Given the description of an element on the screen output the (x, y) to click on. 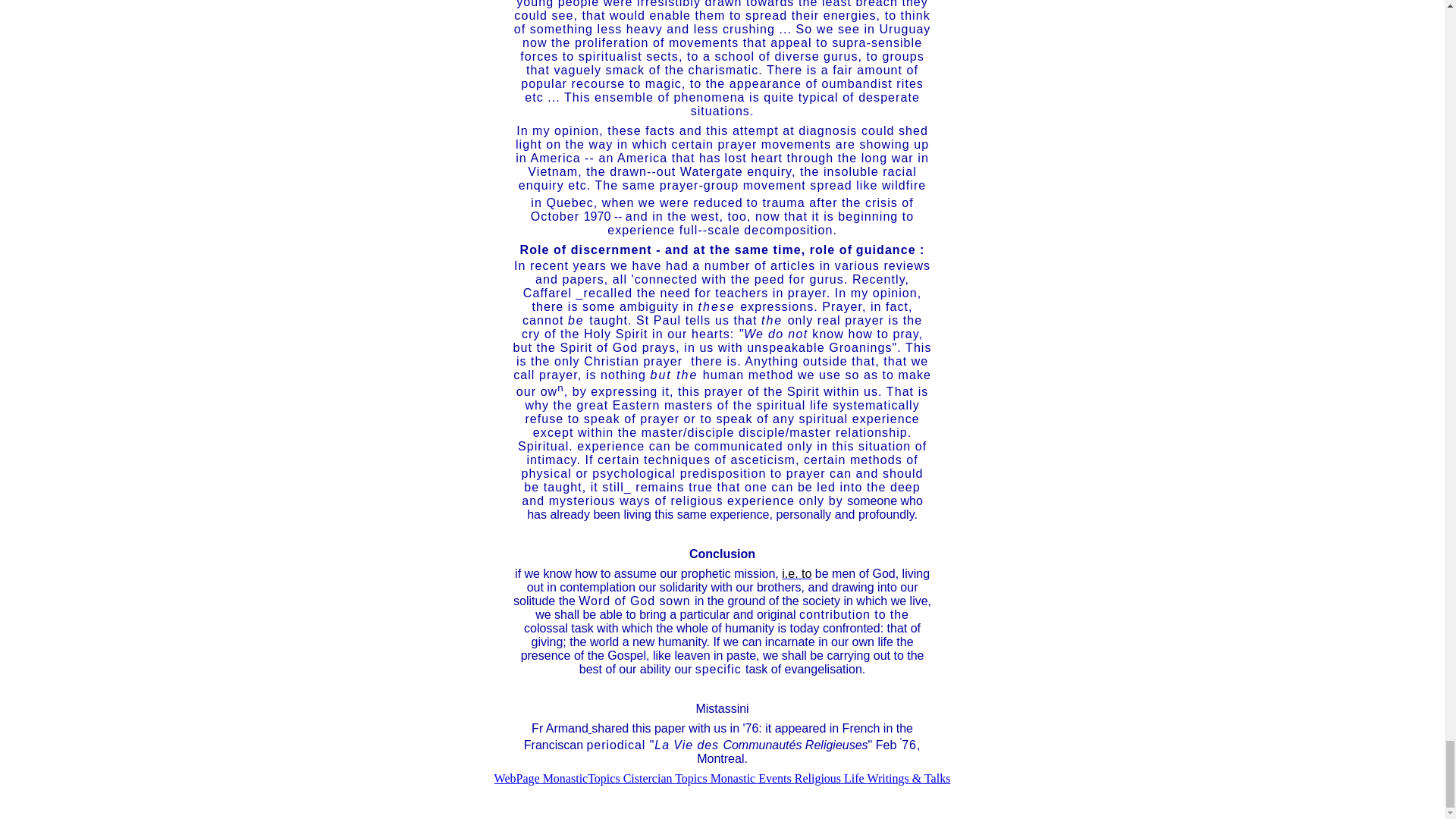
Cistercian Topics (665, 778)
Monastic Events (750, 778)
WebPage (517, 778)
i.e. to (795, 573)
MonasticTopics (581, 778)
Religious Life (830, 778)
